Given the description of an element on the screen output the (x, y) to click on. 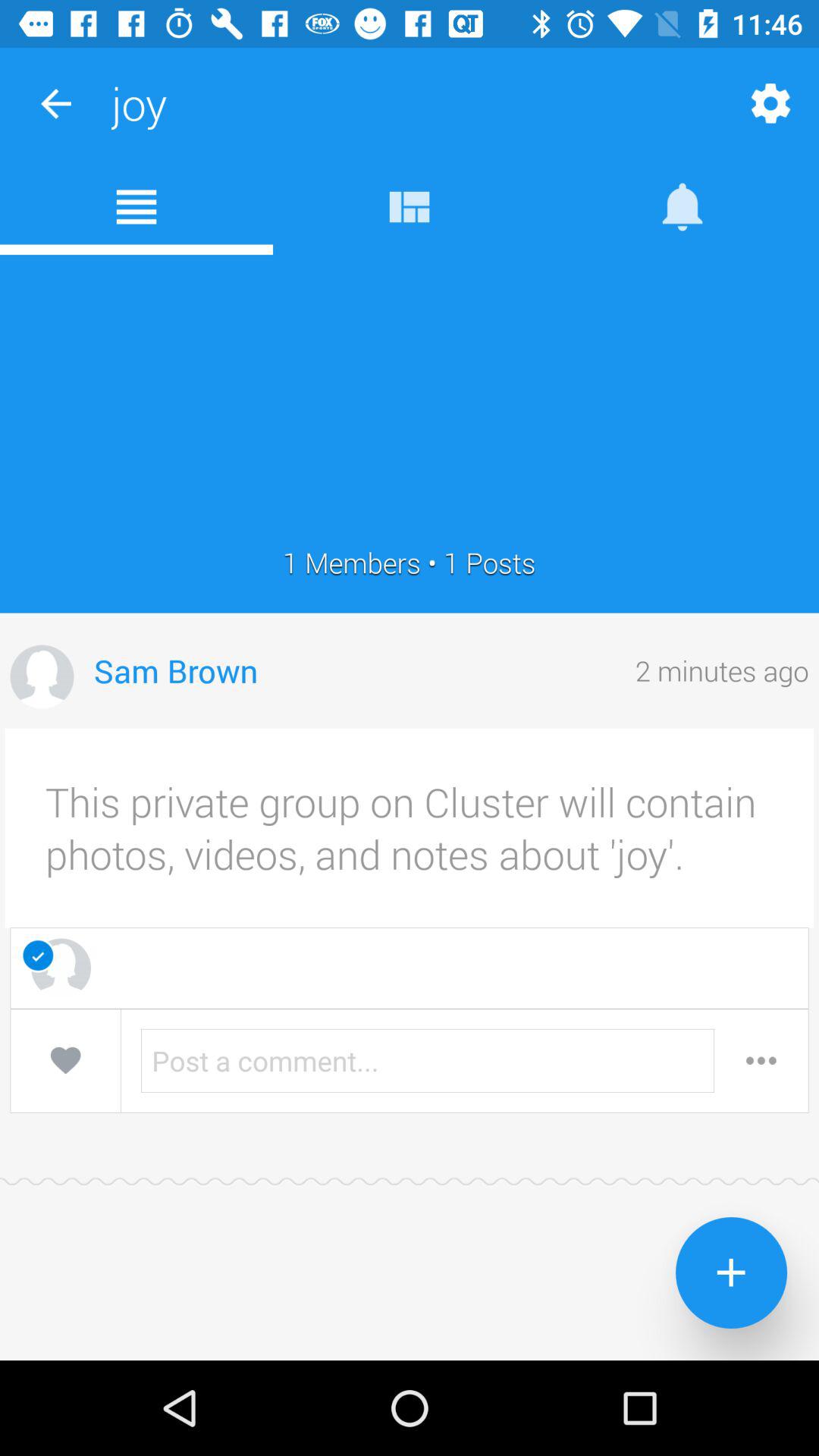
show profile (41, 676)
